Given the description of an element on the screen output the (x, y) to click on. 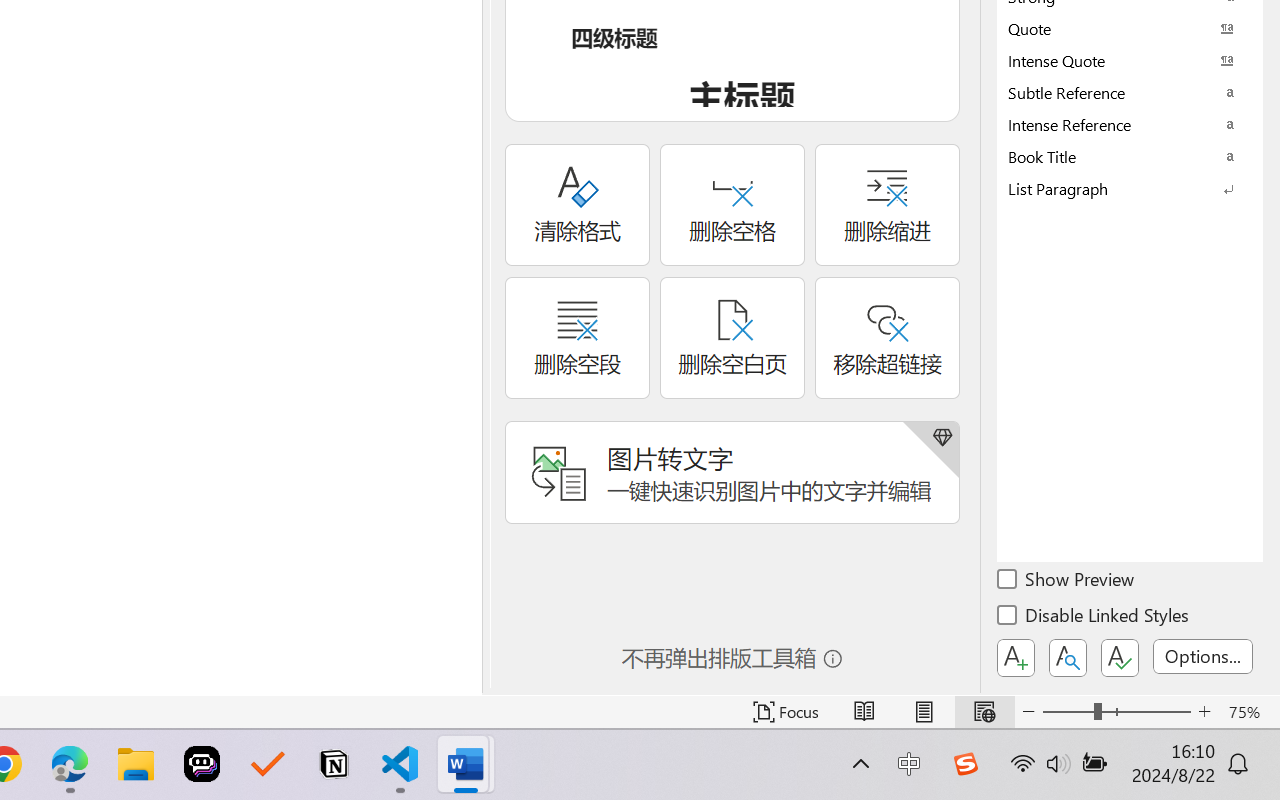
Quote (1130, 28)
Intense Reference (1130, 124)
Zoom In (1204, 712)
Book Title (1130, 156)
Print Layout (924, 712)
Options... (1203, 656)
List Paragraph (1130, 188)
